Given the description of an element on the screen output the (x, y) to click on. 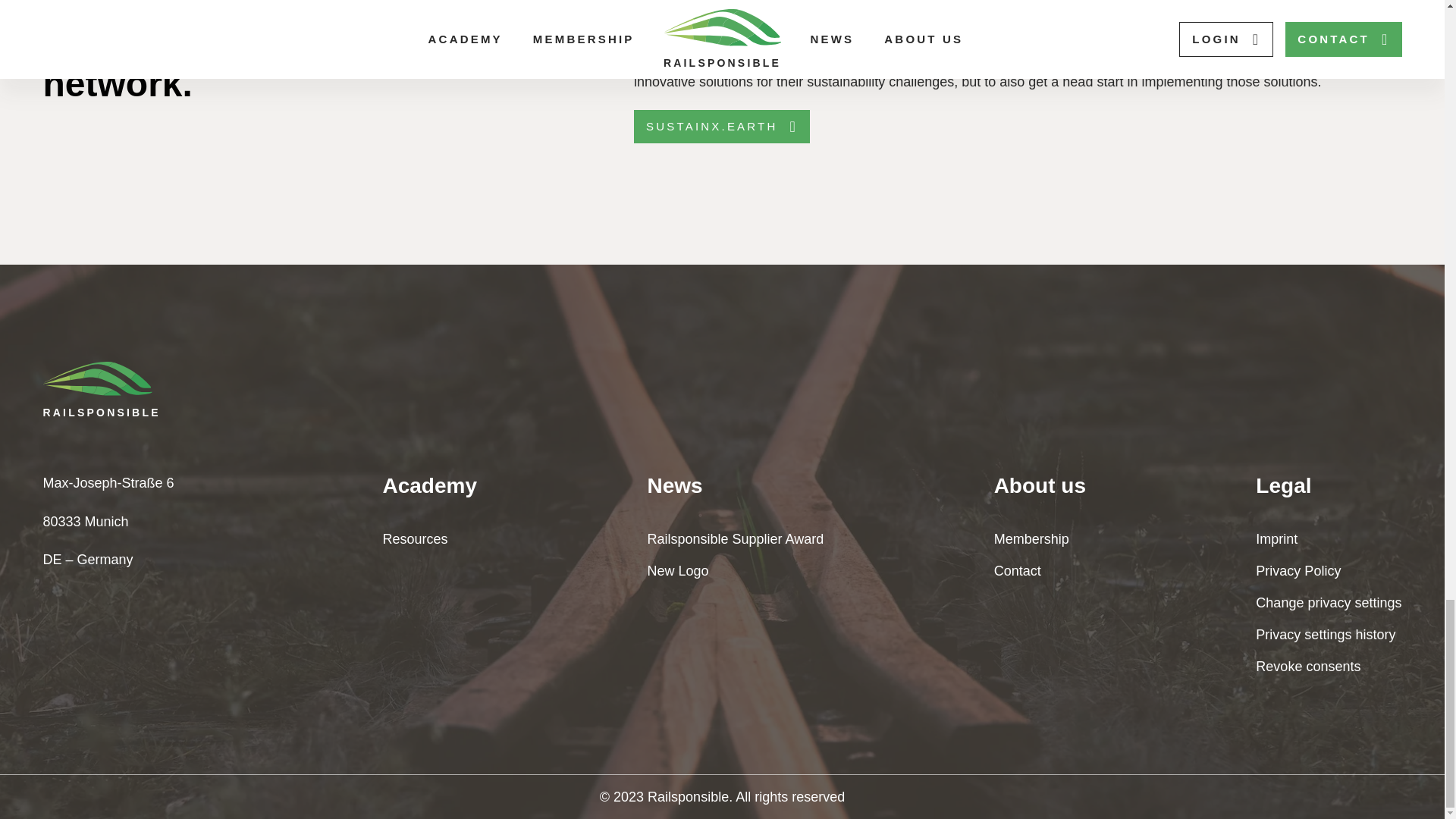
Railsponsible Supplier Award (735, 538)
Academy (429, 485)
About us (1040, 485)
Contact (1040, 570)
SUSTAINX.EARTH (721, 126)
News (735, 485)
New Logo (735, 570)
Membership (1040, 538)
Resources (429, 538)
